Given the description of an element on the screen output the (x, y) to click on. 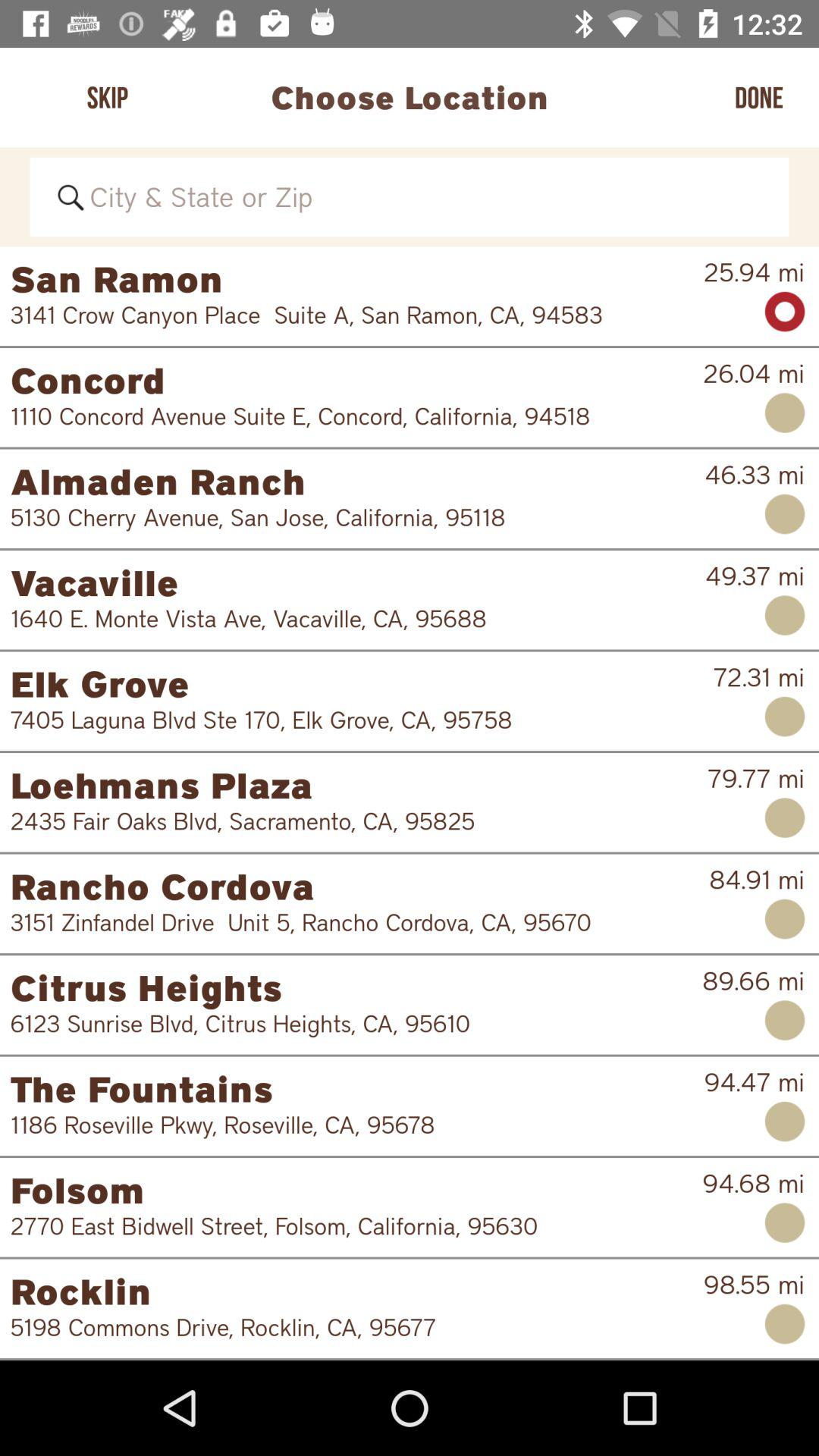
jump until 2435 fair oaks (348, 821)
